Given the description of an element on the screen output the (x, y) to click on. 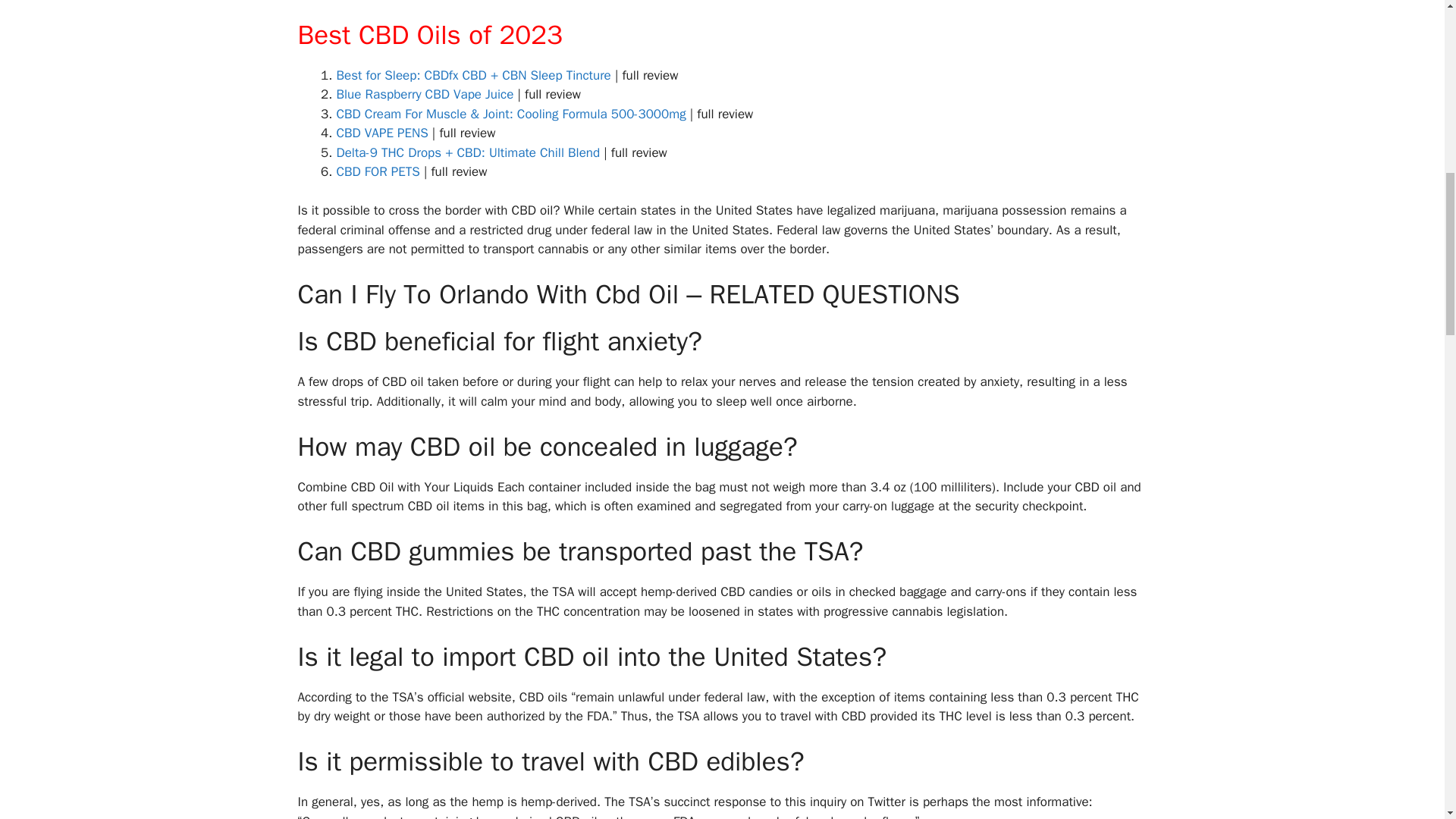
CBD VAPE PENS (382, 132)
CBD FOR PETS (378, 171)
Blue Raspberry CBD Vape Juice (424, 94)
